Given the description of an element on the screen output the (x, y) to click on. 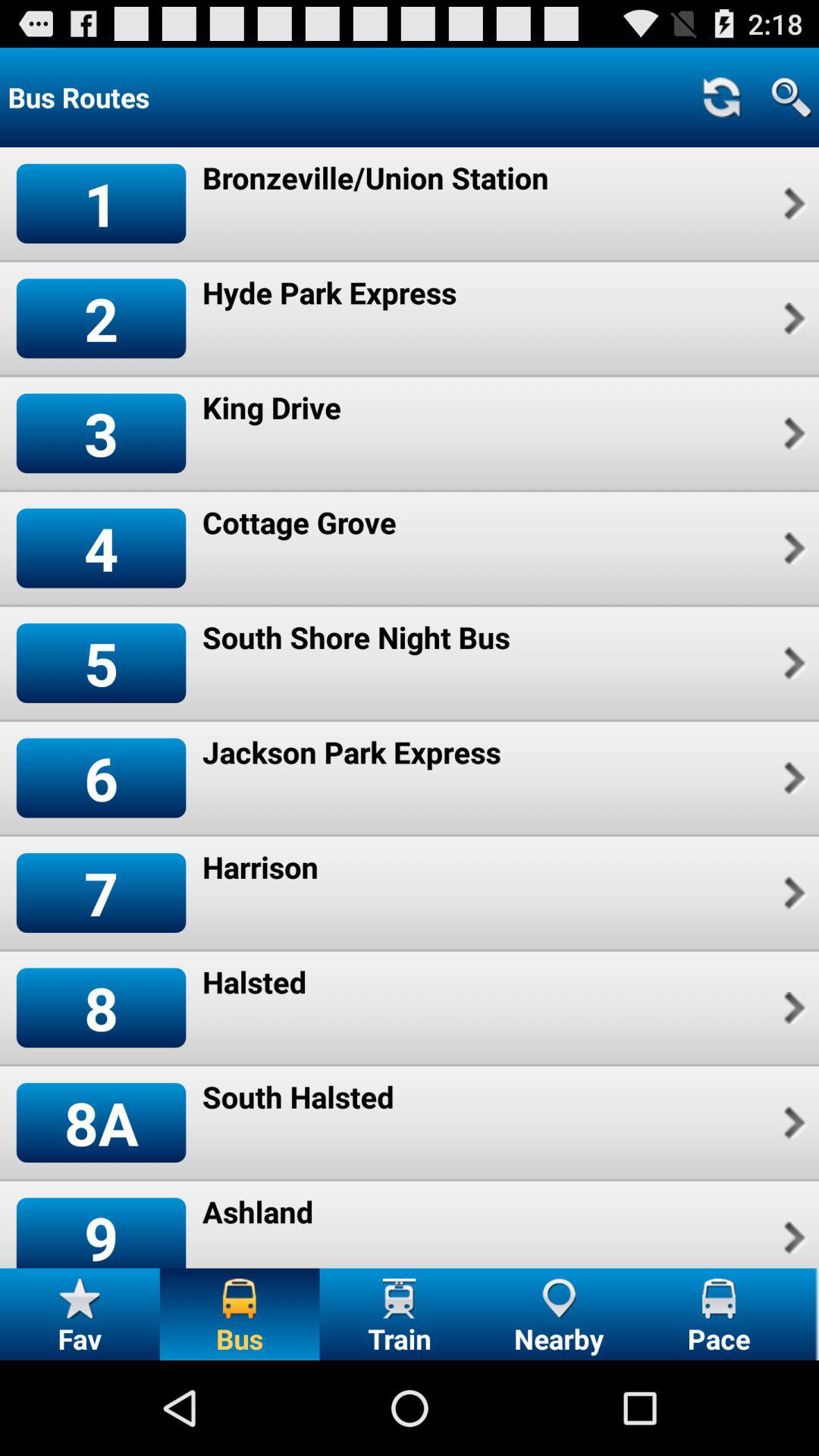
press item to the right of 7 (260, 866)
